Given the description of an element on the screen output the (x, y) to click on. 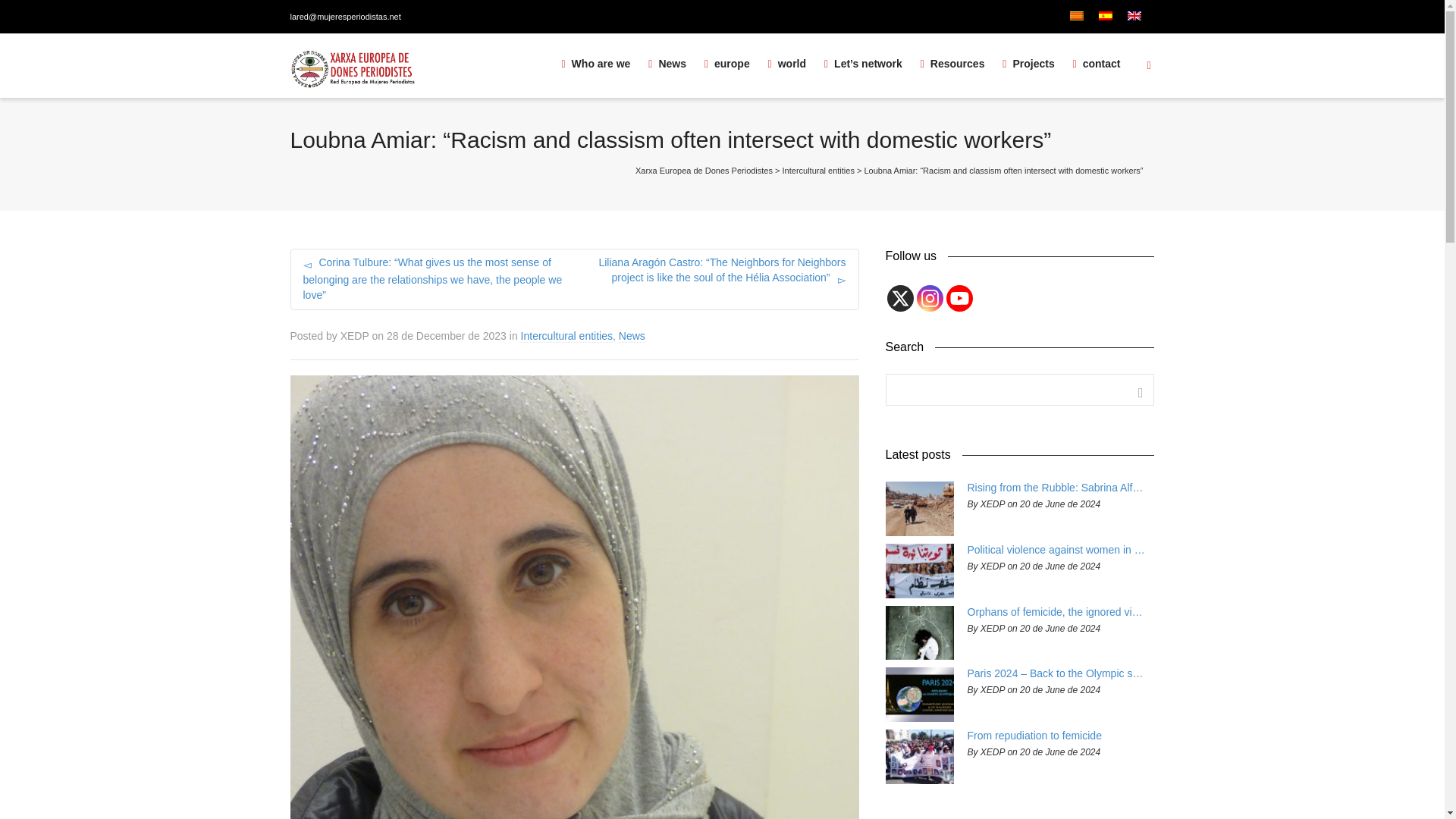
europe (726, 65)
Contacte (1097, 65)
world (787, 65)
News (666, 65)
Xarxa Europea de Dones Periodistes (595, 65)
Who are we (595, 65)
Go to Xarxa Europea de Dones Periodistes. (703, 170)
Go to the Intercultural entities category archives. (818, 170)
